Given the description of an element on the screen output the (x, y) to click on. 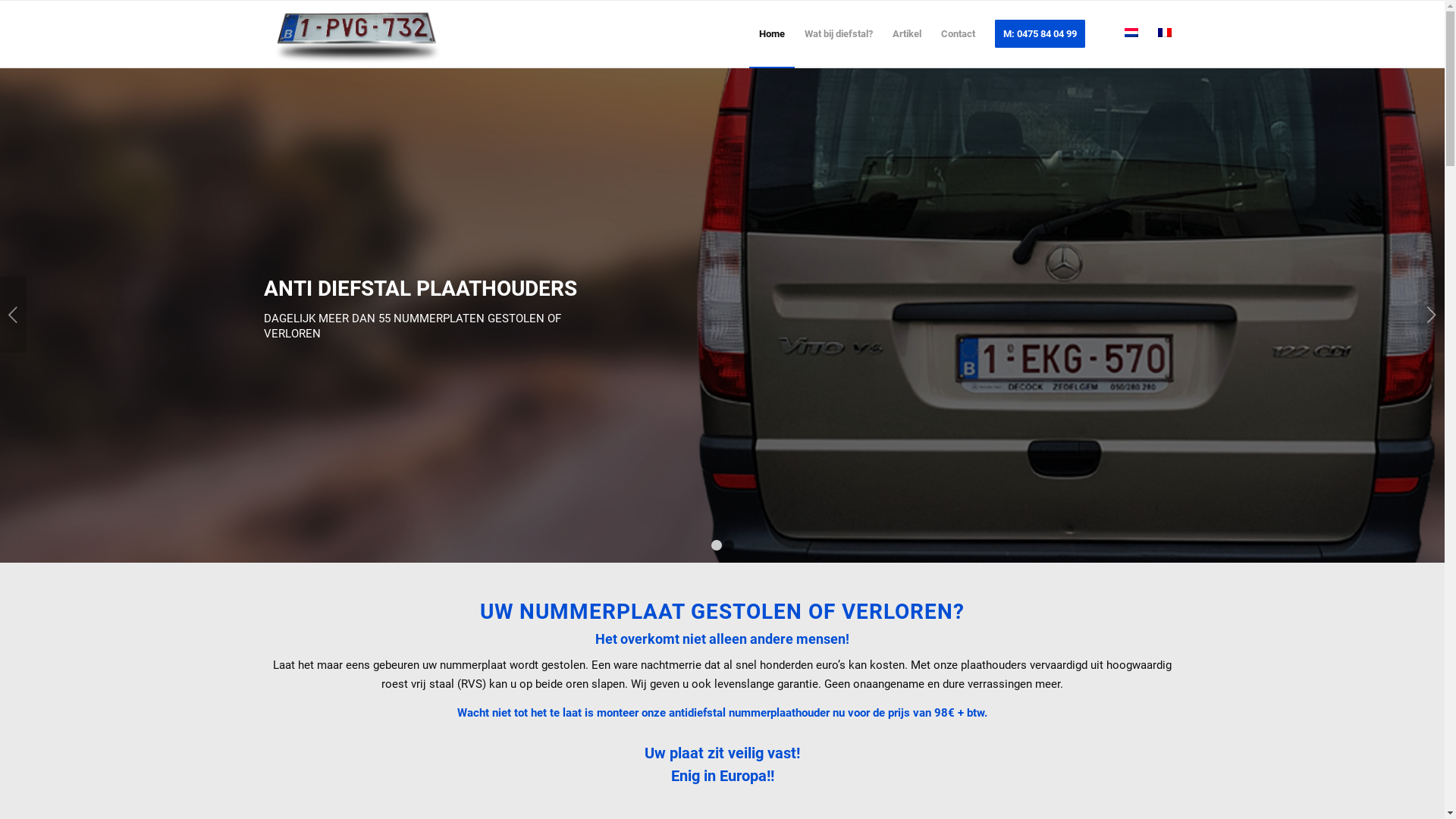
Volgende Element type: text (1431, 314)
Vorige Element type: text (13, 314)
M: 0475 84 04 99 Element type: text (1039, 33)
Artikel Element type: text (906, 33)
Wat bij diefstal? Element type: text (838, 33)
2 Element type: text (728, 544)
Home Element type: text (771, 33)
1 Element type: text (716, 544)
Contact Element type: text (958, 33)
